Given the description of an element on the screen output the (x, y) to click on. 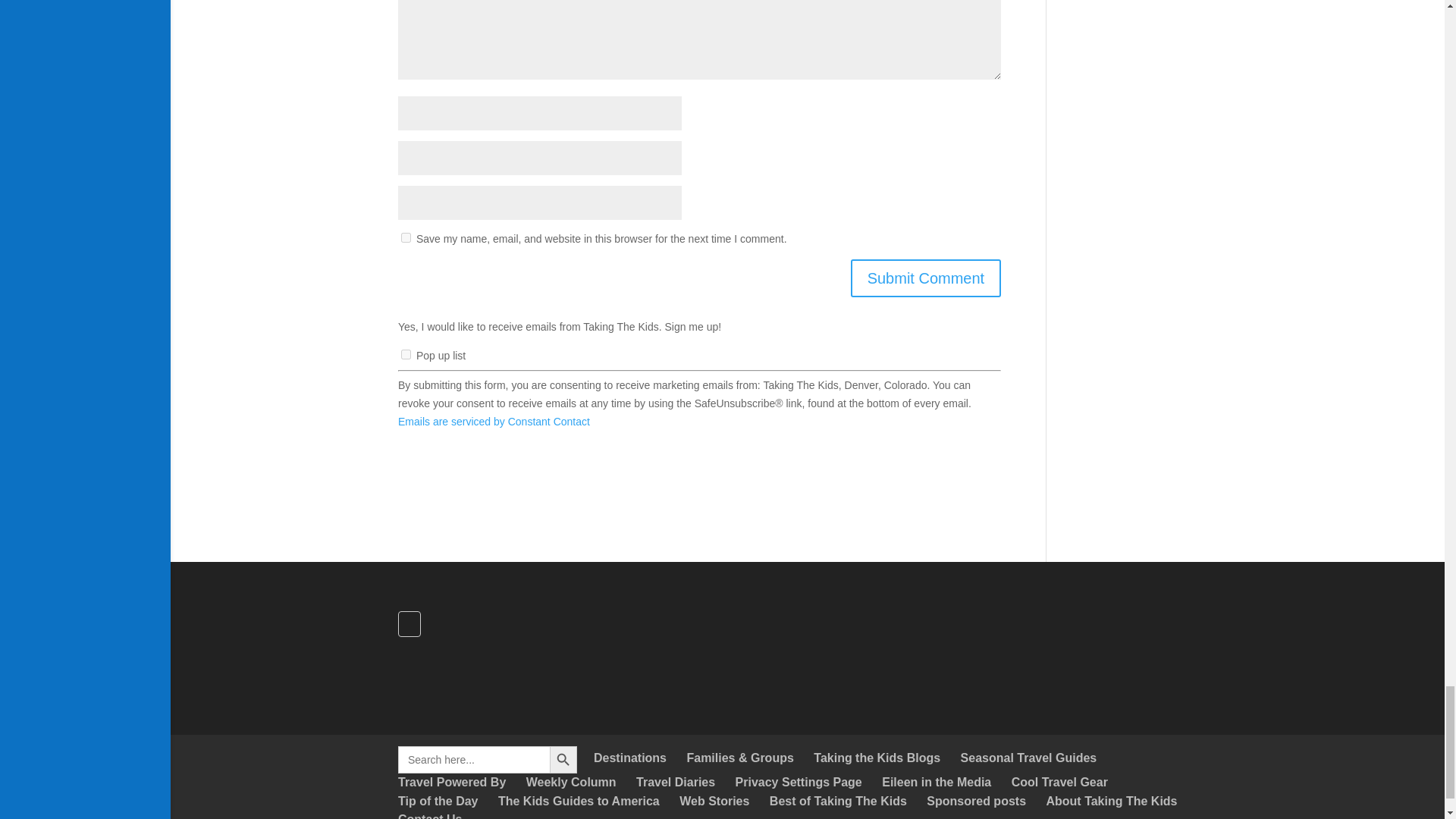
Submit Comment (925, 278)
yes (405, 237)
679276e2-a18b-11ec-9047-fa163ea6032f (405, 354)
